Given the description of an element on the screen output the (x, y) to click on. 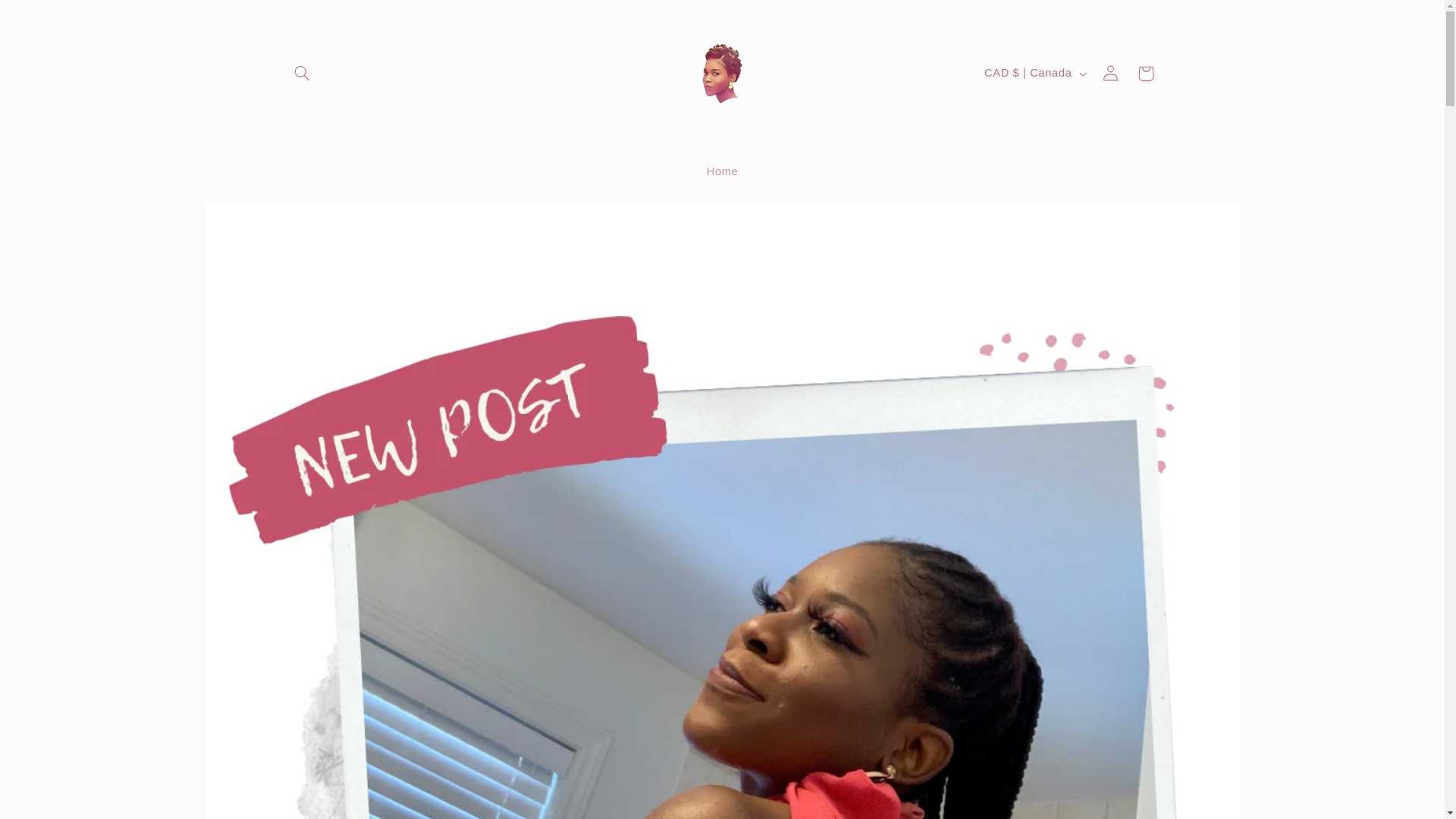
Log in (1110, 73)
Home (722, 172)
Cart (1145, 73)
Skip to content (48, 18)
